Given the description of an element on the screen output the (x, y) to click on. 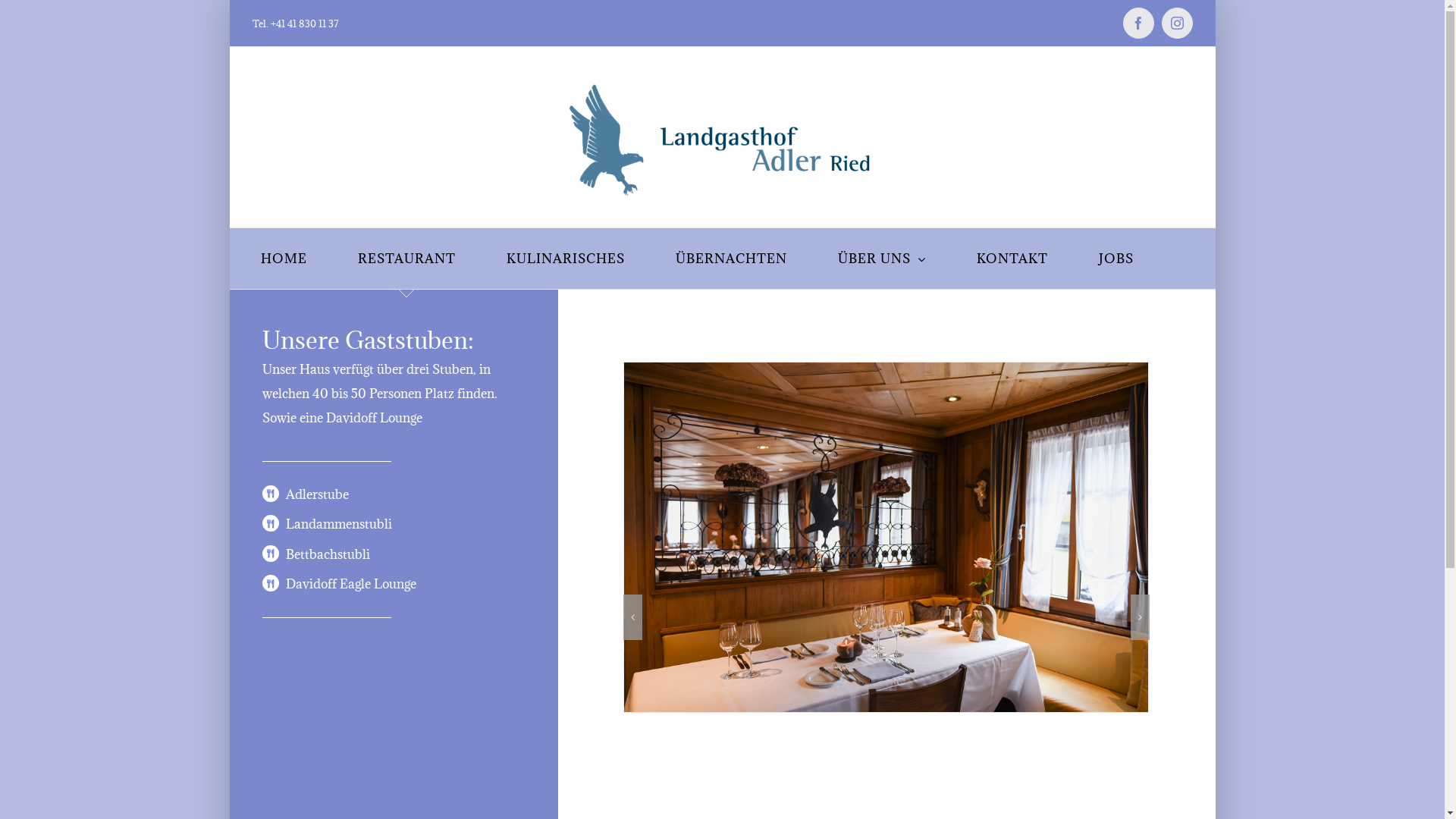
HOME Element type: text (283, 258)
KONTAKT Element type: text (1012, 258)
Facebook Element type: text (1137, 22)
Landammenstubli Element type: text (338, 523)
Davidoff Eagle Lounge Element type: text (350, 583)
KULINARISCHES Element type: text (565, 258)
Instagram Element type: text (1176, 22)
JOBS Element type: text (1115, 258)
Adlerstube Element type: text (316, 494)
Bettbachstubli Element type: text (327, 554)
RESTAURANT Element type: text (406, 258)
